Given the description of an element on the screen output the (x, y) to click on. 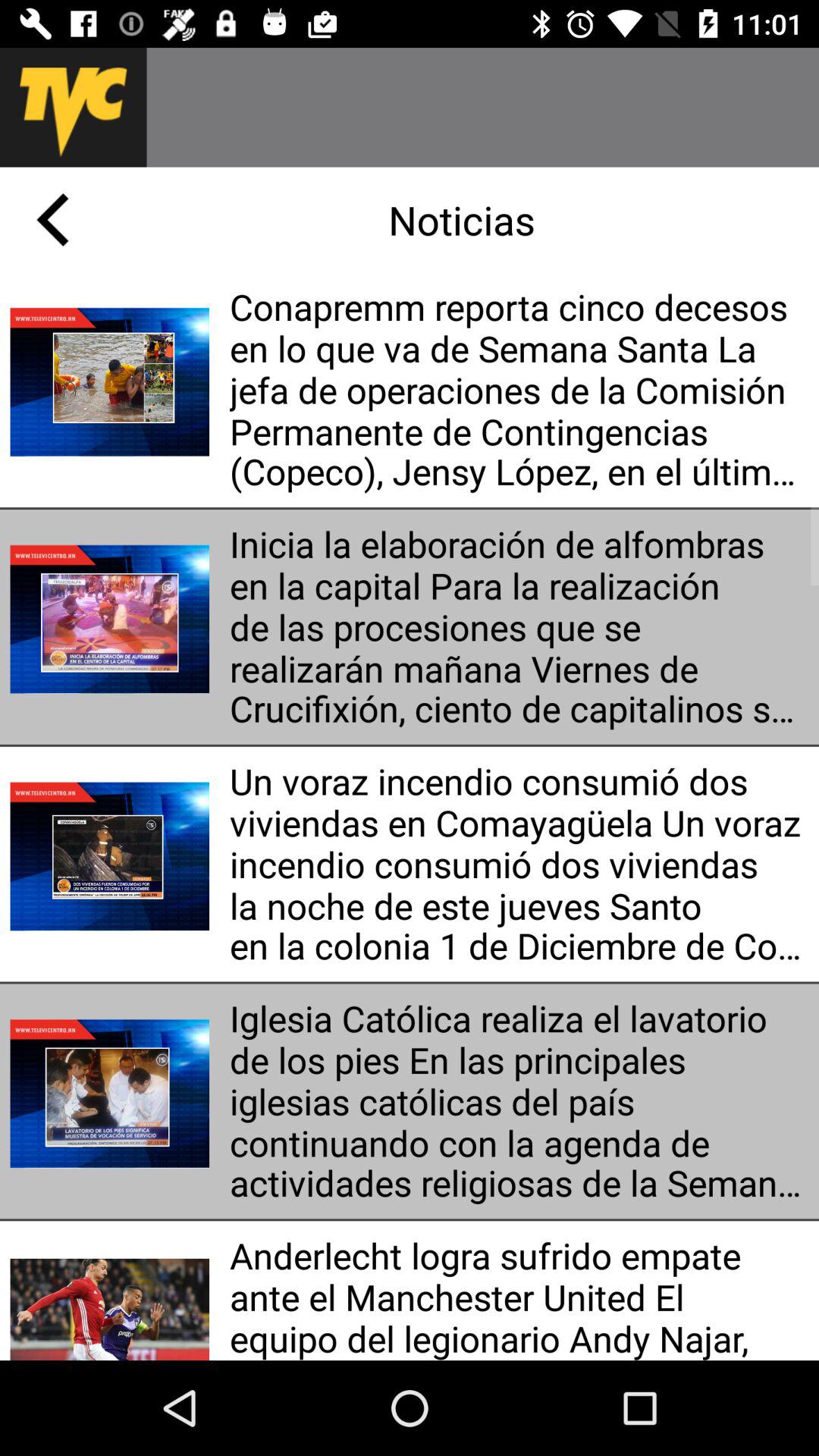
choose icon below the un voraz incendio app (518, 1101)
